Given the description of an element on the screen output the (x, y) to click on. 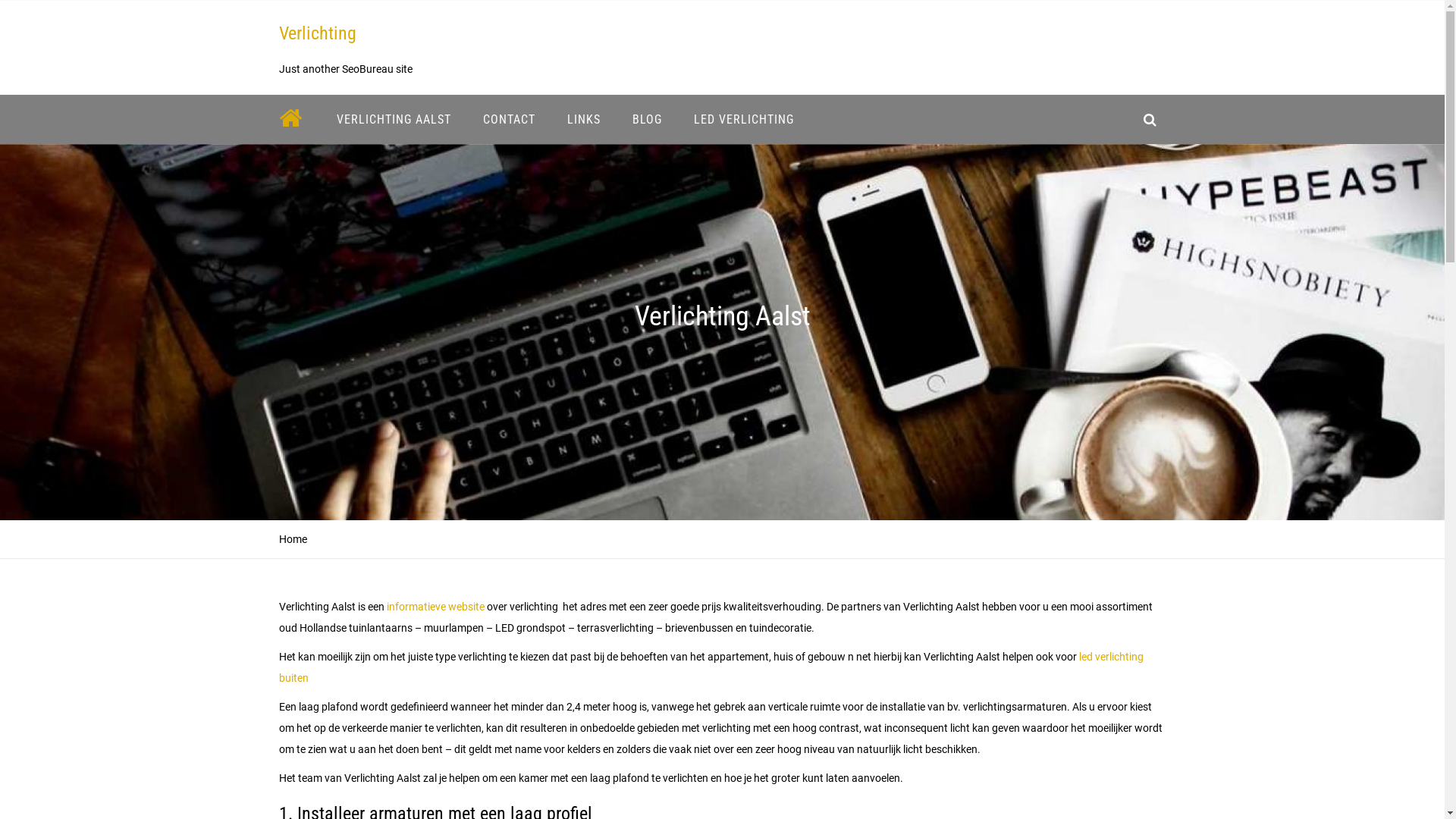
informatieve website Element type: text (435, 606)
Verlichting Element type: text (317, 32)
search_icon Element type: hover (1148, 119)
VERLICHTING AALST Element type: text (393, 119)
LINKS Element type: text (582, 119)
led verlichting buiten Element type: text (711, 667)
BLOG Element type: text (646, 119)
CONTACT Element type: text (509, 119)
LED VERLICHTING Element type: text (743, 119)
